Given the description of an element on the screen output the (x, y) to click on. 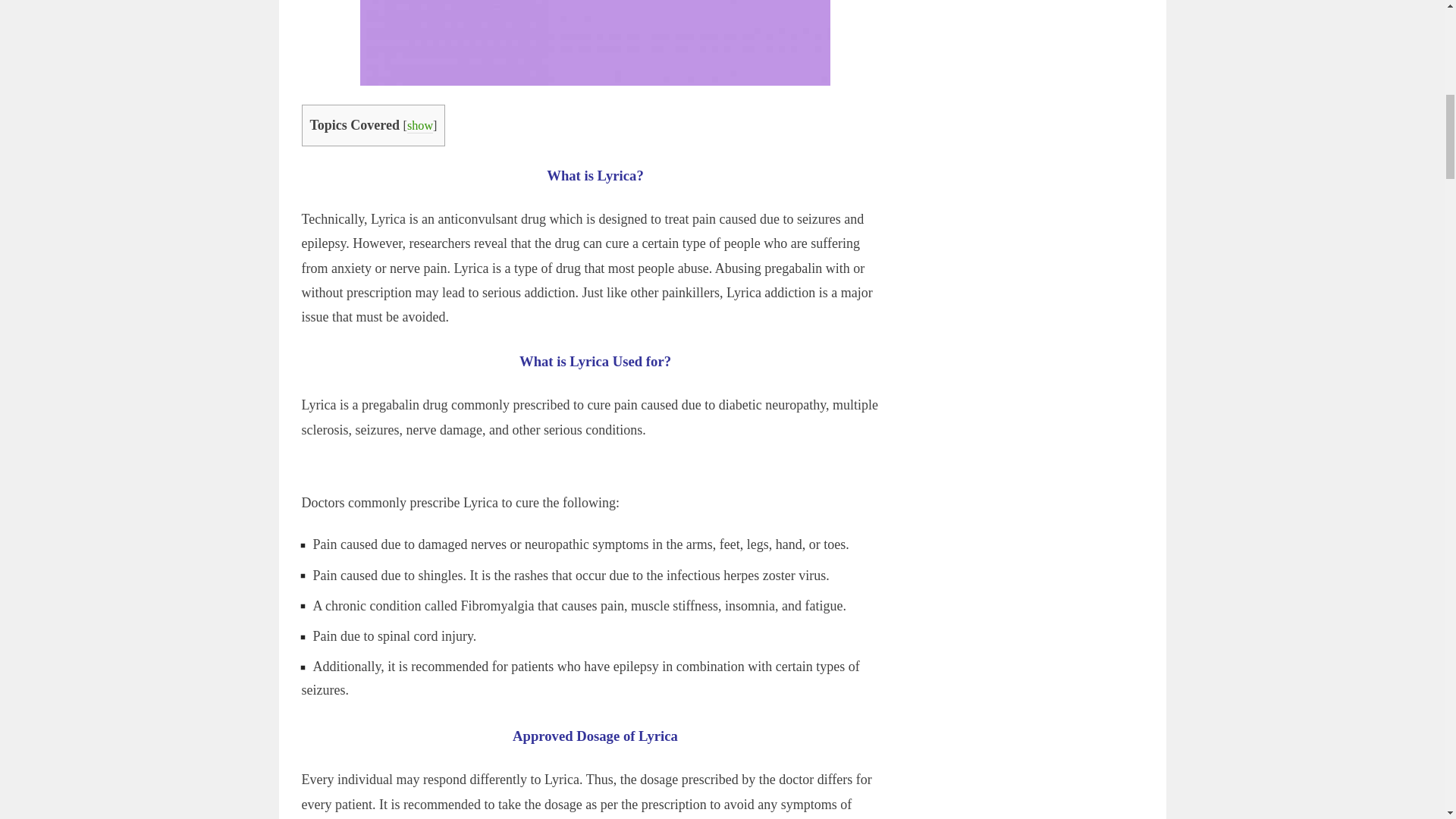
show (419, 125)
